Given the description of an element on the screen output the (x, y) to click on. 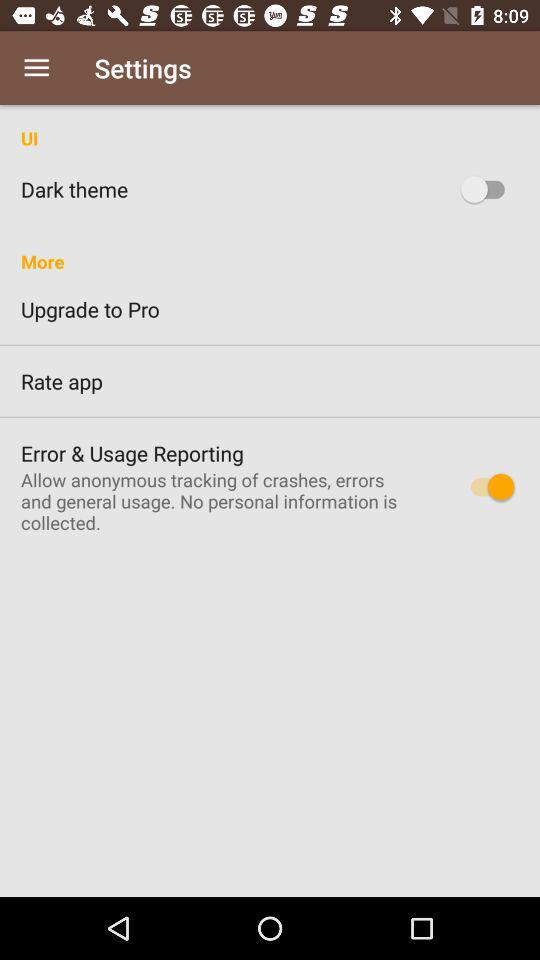
switch dark theme (487, 189)
